Given the description of an element on the screen output the (x, y) to click on. 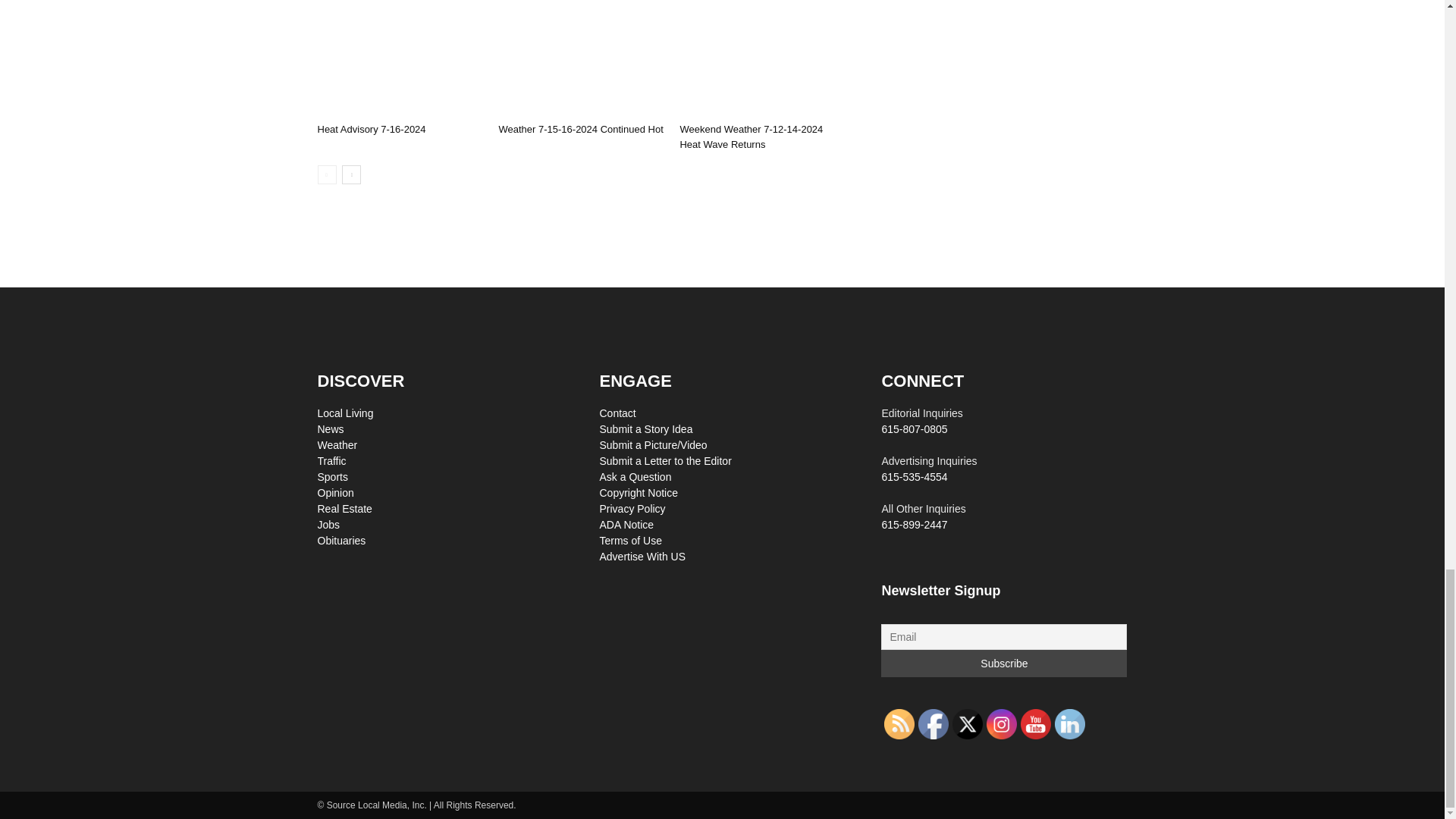
Subscribe (1003, 663)
